Given the description of an element on the screen output the (x, y) to click on. 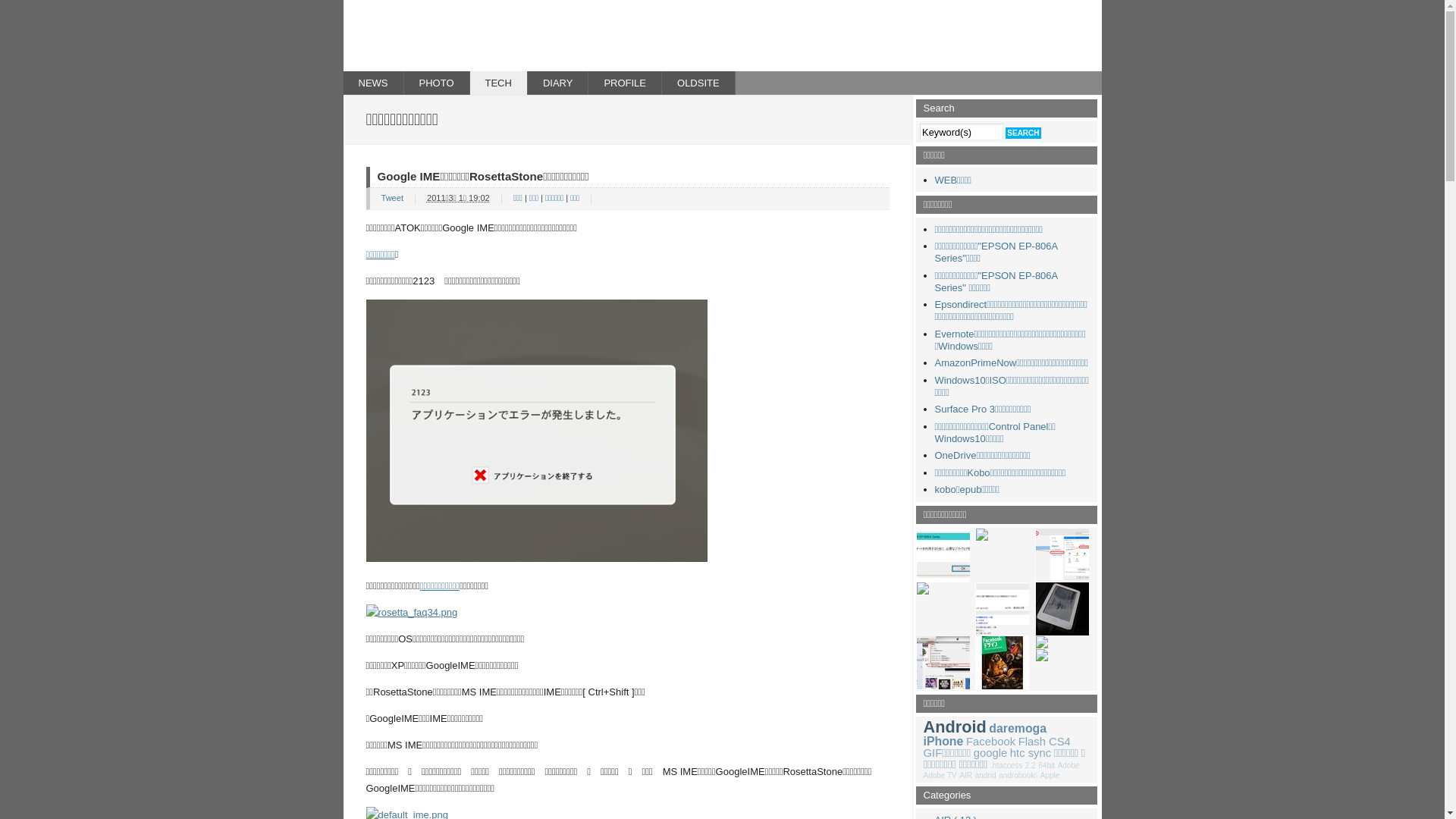
2.2 Element type: text (1030, 765)
Adobe Element type: text (1068, 765)
.htaccess Element type: text (1006, 765)
Tweet Element type: text (391, 197)
google Element type: text (990, 752)
Facebook Element type: text (990, 741)
TECH Element type: text (498, 82)
NEWS Element type: text (372, 82)
64bit Element type: text (1046, 765)
PROFILE Element type: text (625, 82)
Apple Element type: text (1050, 775)
daremoga Element type: text (1017, 727)
andrid Element type: text (985, 775)
Flash CS4 Element type: text (1044, 741)
AIR Element type: text (965, 775)
Search Element type: text (1022, 132)
DIARY Element type: text (558, 82)
OLDSITE Element type: text (698, 82)
Adobe TV Element type: text (940, 775)
PHOTO Element type: text (436, 82)
Android Element type: text (954, 726)
iPhone Element type: text (943, 740)
htc sync Element type: text (1030, 752)
